Given the description of an element on the screen output the (x, y) to click on. 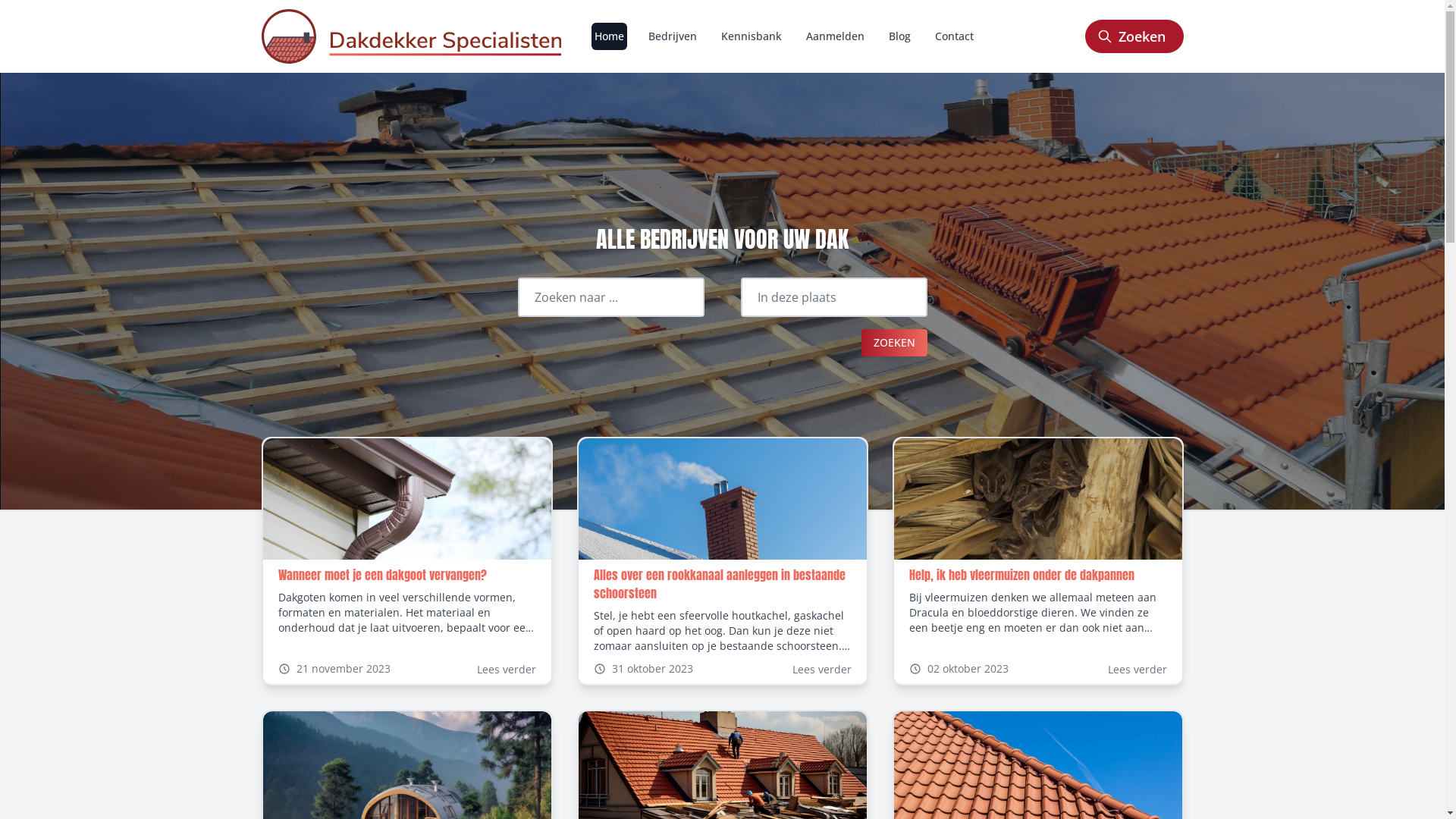
Blog Element type: text (899, 36)
Wanneer moet je een dakgoot vervangen? Element type: text (381, 574)
Bedrijven Element type: text (672, 36)
Zoeken naar bedrijven
Zoeken Element type: text (1133, 36)
Contact Element type: text (953, 36)
Aanmelden Element type: text (835, 36)
Help, ik heb vleermuizen onder de dakpannen Element type: text (1020, 574)
Alle bedrijven voor uw dak Element type: hover (410, 36)
Lees verder Element type: text (1136, 669)
ZOEKEN Element type: text (894, 342)
Kennisbank Element type: text (751, 36)
Lees verder Element type: text (505, 669)
Home Element type: text (609, 36)
Lees verder Element type: text (820, 669)
Alles over een rookkanaal aanleggen in bestaande schoorsteen Element type: text (718, 583)
